Given the description of an element on the screen output the (x, y) to click on. 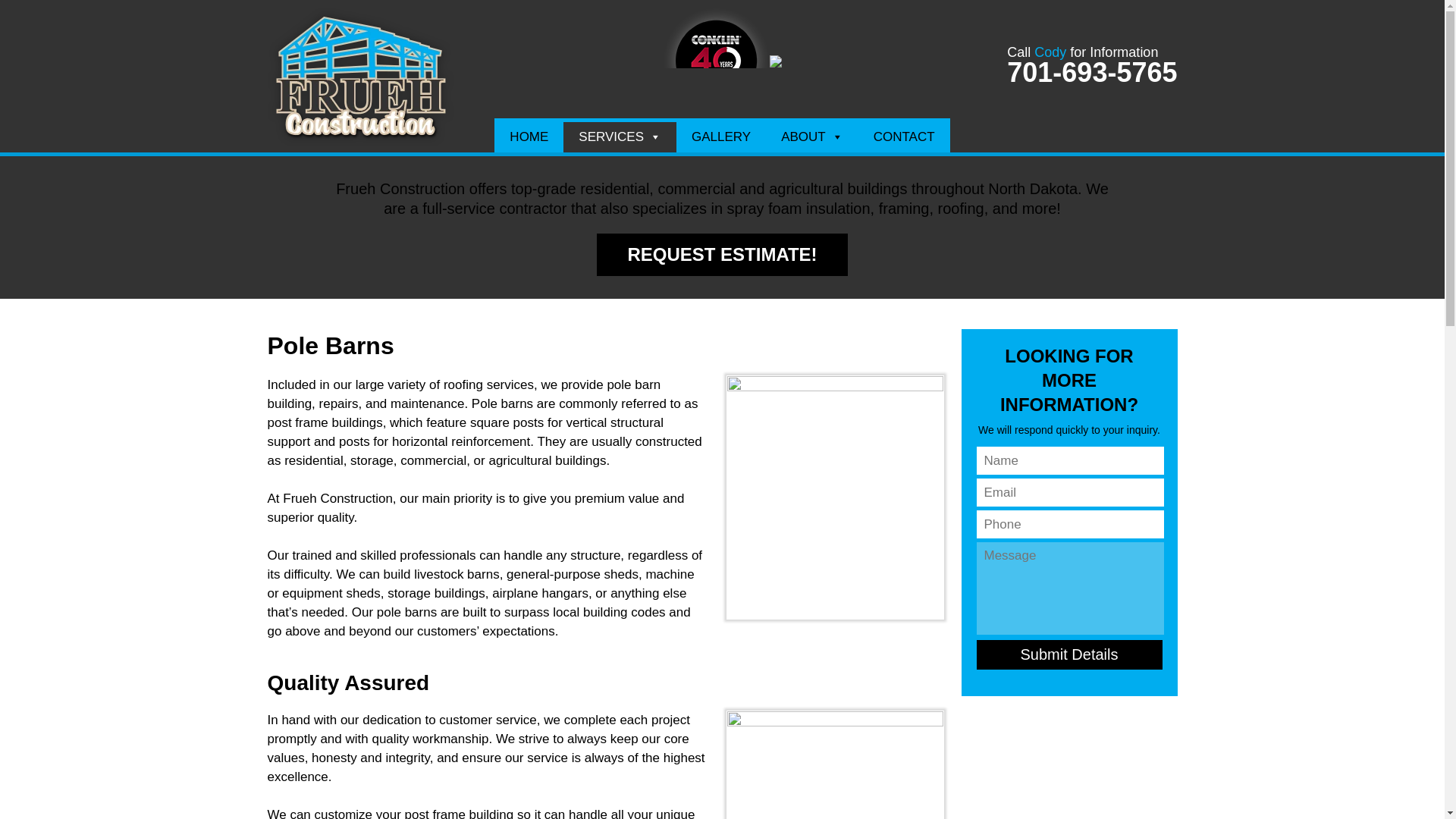
HOME (529, 137)
REQUEST ESTIMATE! (721, 254)
701-693-5765 (1091, 71)
Frueh Construction (359, 142)
ABOUT (812, 137)
GALLERY (721, 137)
Submit Details (1068, 654)
SERVICES (620, 137)
Submit Details (1068, 654)
CONTACT (904, 137)
